Given the description of an element on the screen output the (x, y) to click on. 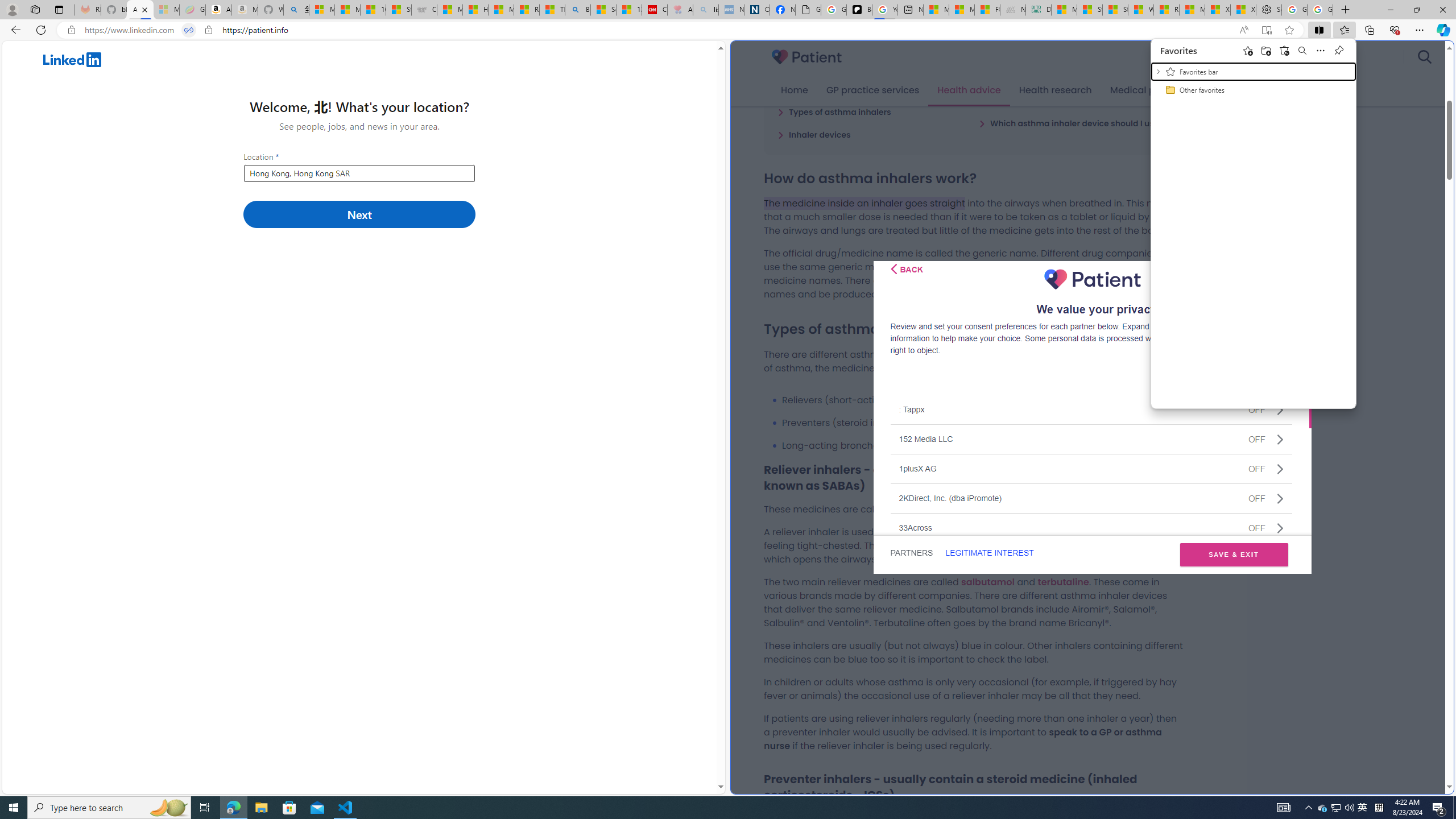
Inhaler devices (813, 134)
Long-acting bronchodilators. (983, 445)
Pin favorites (1338, 49)
salbutamol (987, 581)
Class: css-jswnc6 (1362, 807)
